Given the description of an element on the screen output the (x, y) to click on. 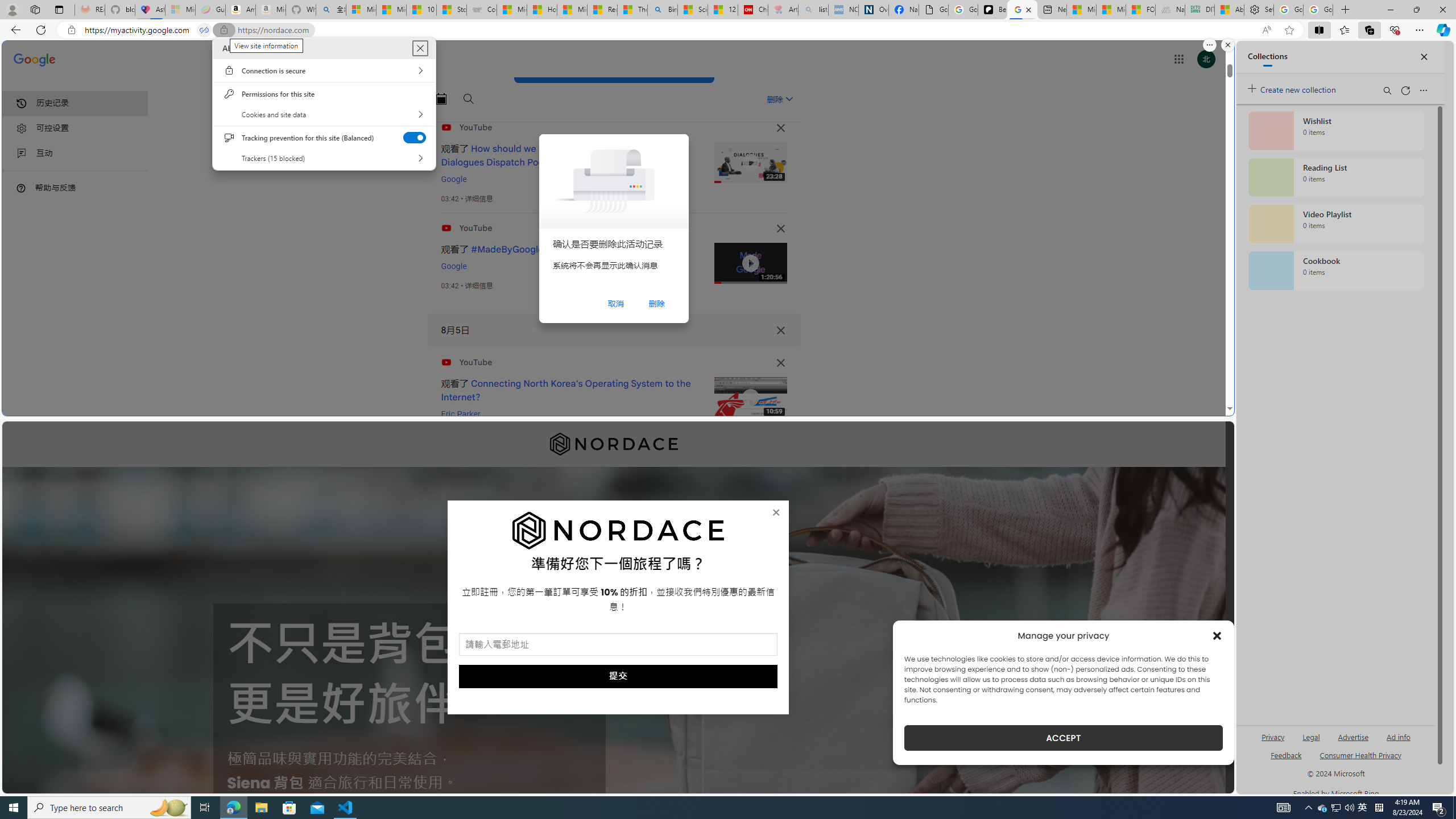
Microsoft Start (1111, 9)
Start (13, 807)
Class: i2GIId (21, 153)
AutomationID: genId96 (1285, 759)
Class: DTiKkd NMm5M (21, 188)
Action Center, 2 new notifications (1439, 807)
Aberdeen, Hong Kong SAR hourly forecast | Microsoft Weather (1229, 9)
Tracking prevention for this site (Balanced) (414, 137)
File Explorer (261, 807)
Add this page to favorites (Ctrl+D) (1289, 29)
Search highlights icon opens search home window (167, 807)
